Given the description of an element on the screen output the (x, y) to click on. 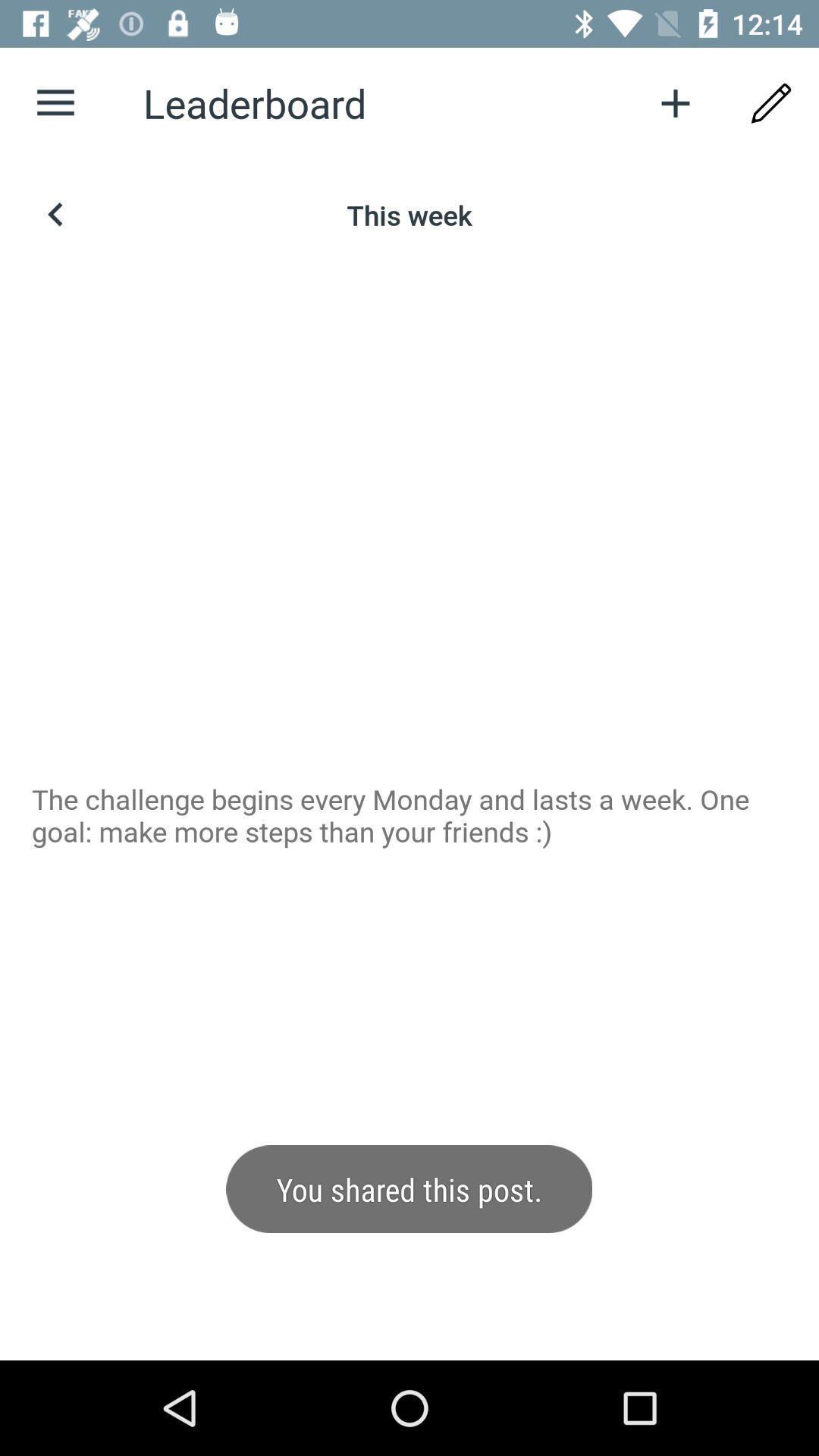
go to previous (55, 214)
